Given the description of an element on the screen output the (x, y) to click on. 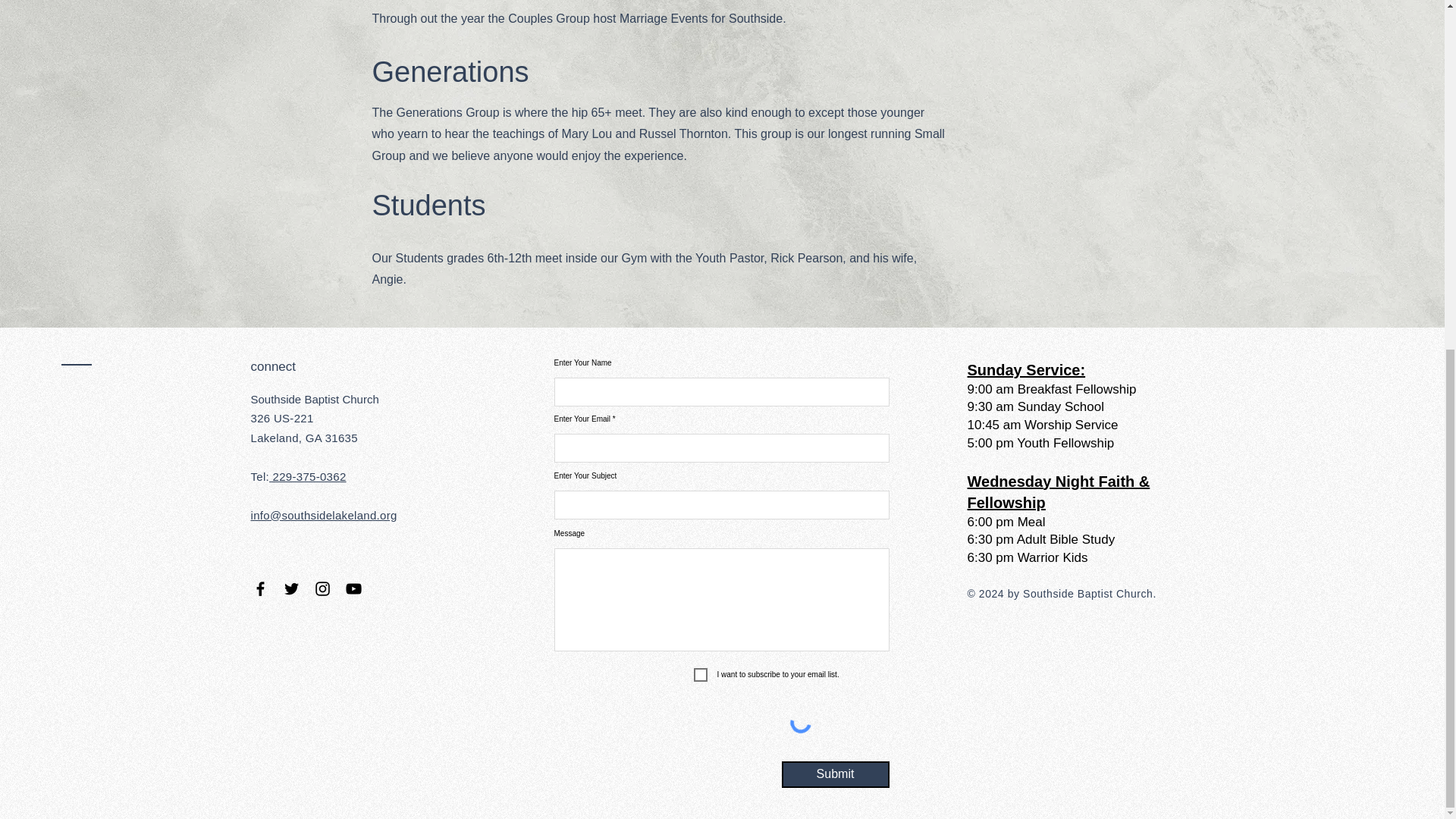
Submit (834, 774)
229-375-0362 (307, 476)
